Given the description of an element on the screen output the (x, y) to click on. 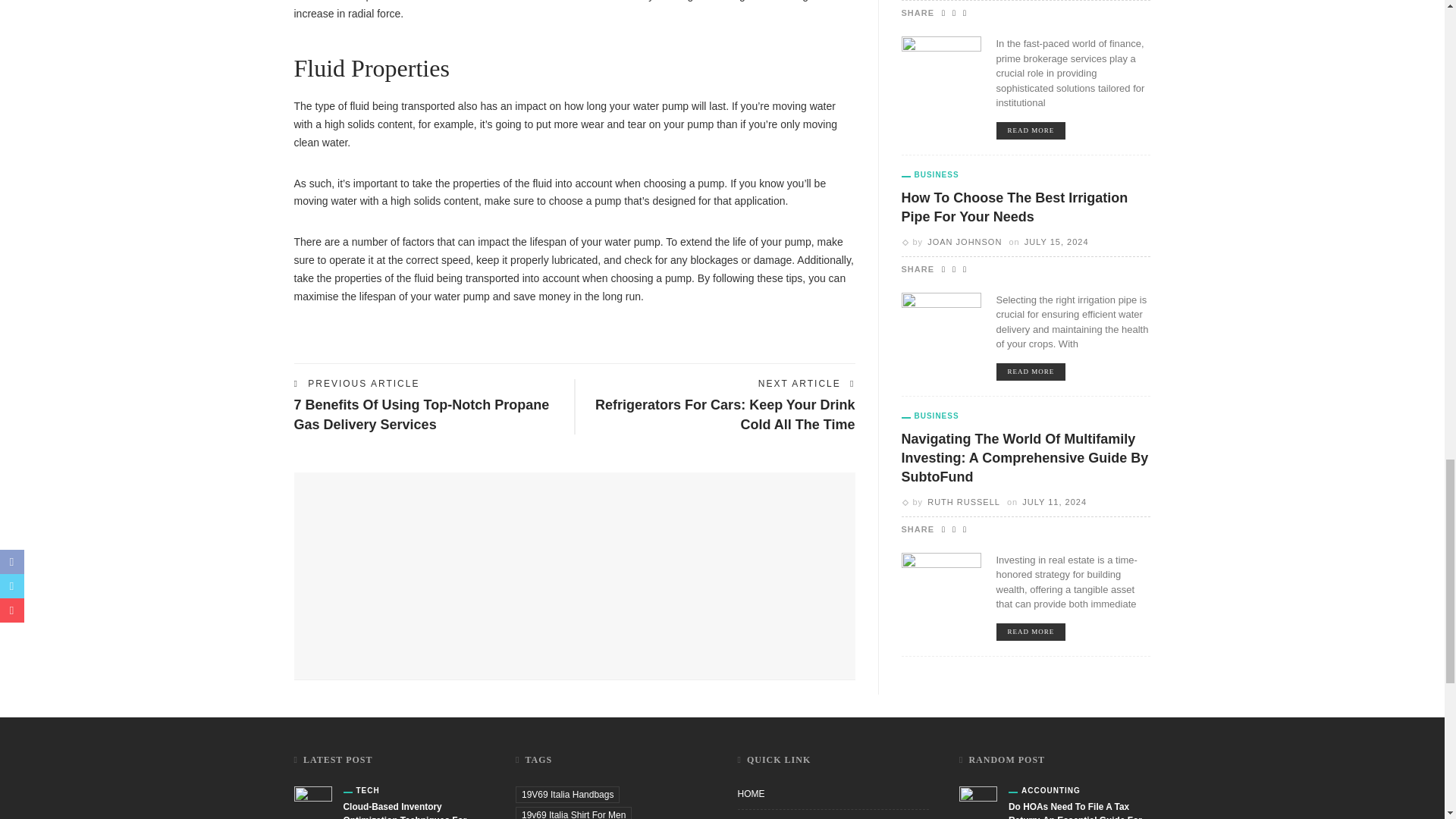
Refrigerators For Cars: Keep Your Drink Cold All The Time (724, 414)
